Given the description of an element on the screen output the (x, y) to click on. 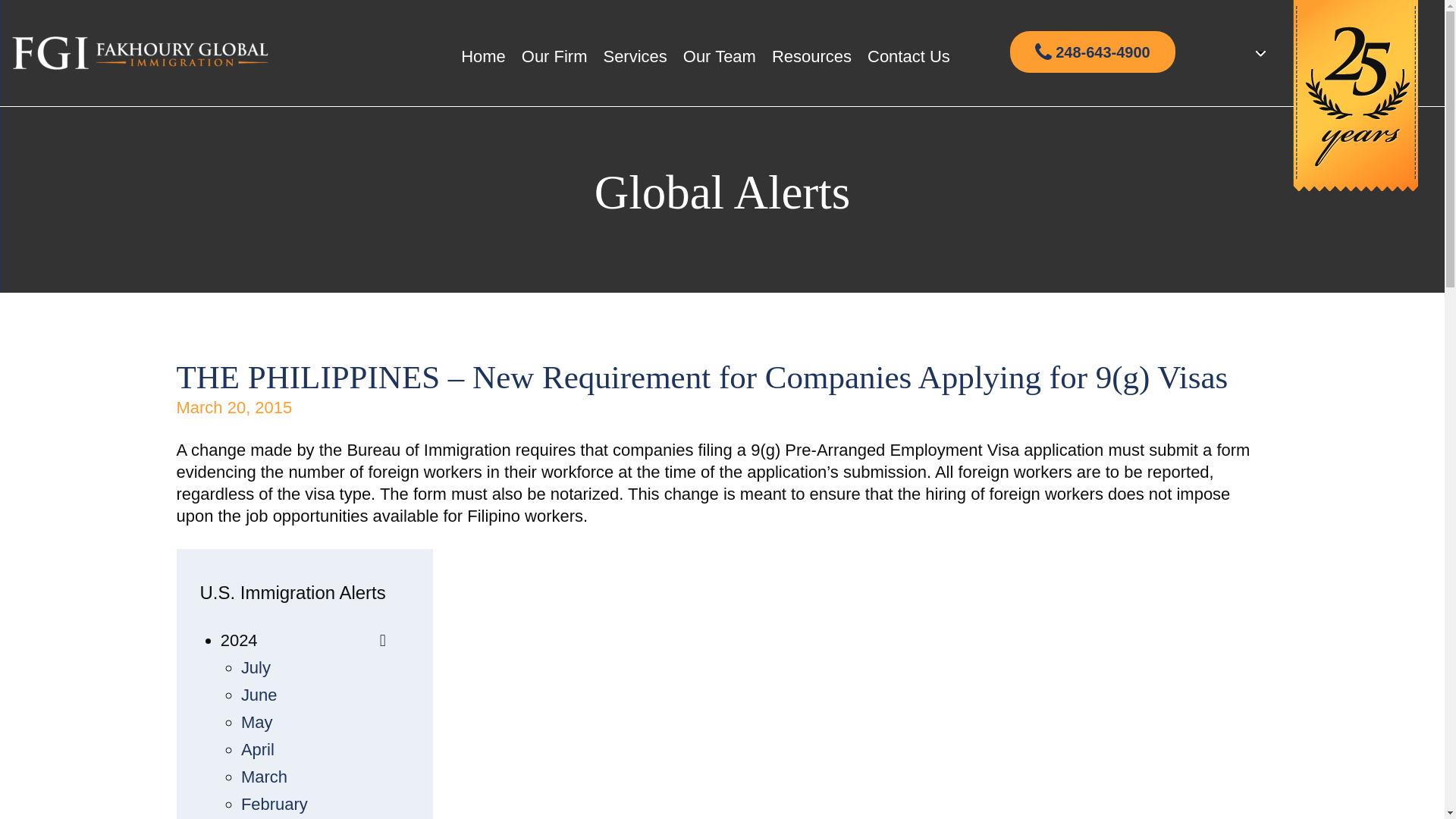
May (257, 722)
Home (483, 56)
June (259, 694)
Our Firm (554, 56)
Our Team (718, 56)
April (258, 749)
Fakhoury Law Group, PC (140, 53)
Services (634, 56)
248-643-4900 (1092, 51)
July (255, 667)
Contact Us (908, 56)
March (263, 776)
February (274, 804)
Resources (811, 56)
